Given the description of an element on the screen output the (x, y) to click on. 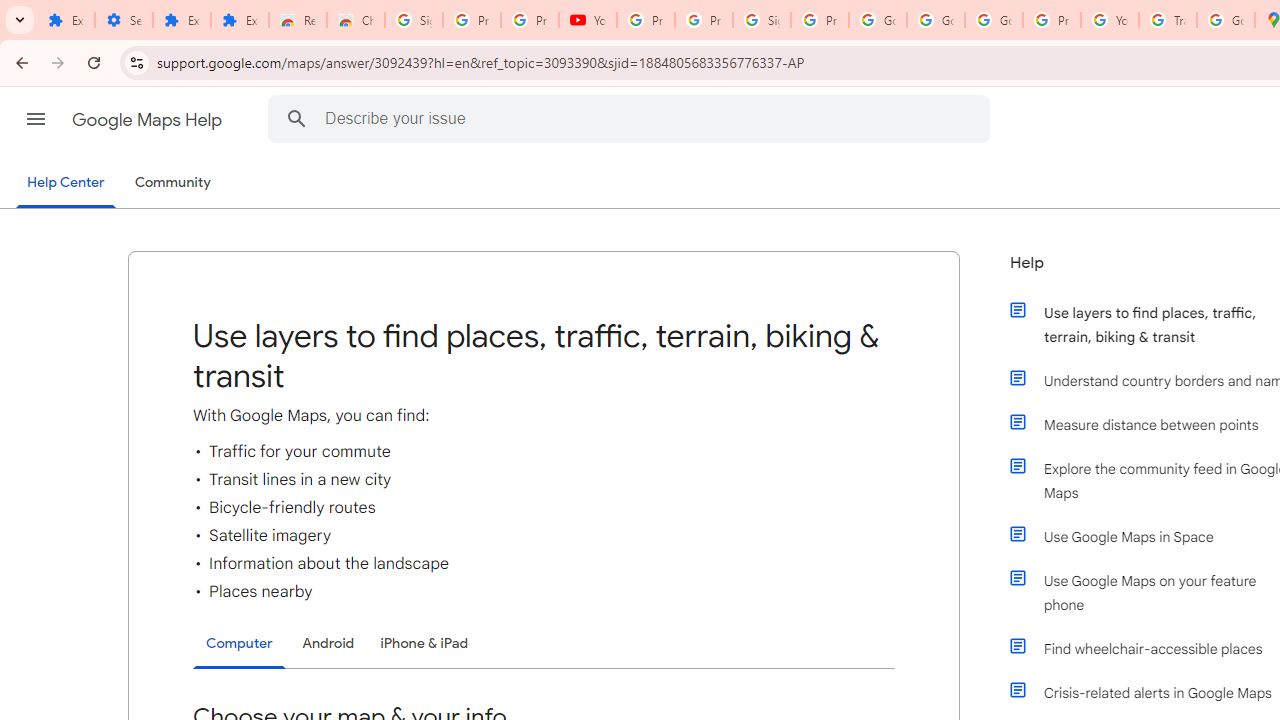
Search Help Center (297, 118)
Google Maps Help (148, 119)
Extensions (181, 20)
Settings (123, 20)
Reviews: Helix Fruit Jump Arcade Game (297, 20)
Main menu (35, 119)
Community (171, 183)
iPhone & iPad (424, 642)
Computer (239, 643)
Extensions (65, 20)
